Given the description of an element on the screen output the (x, y) to click on. 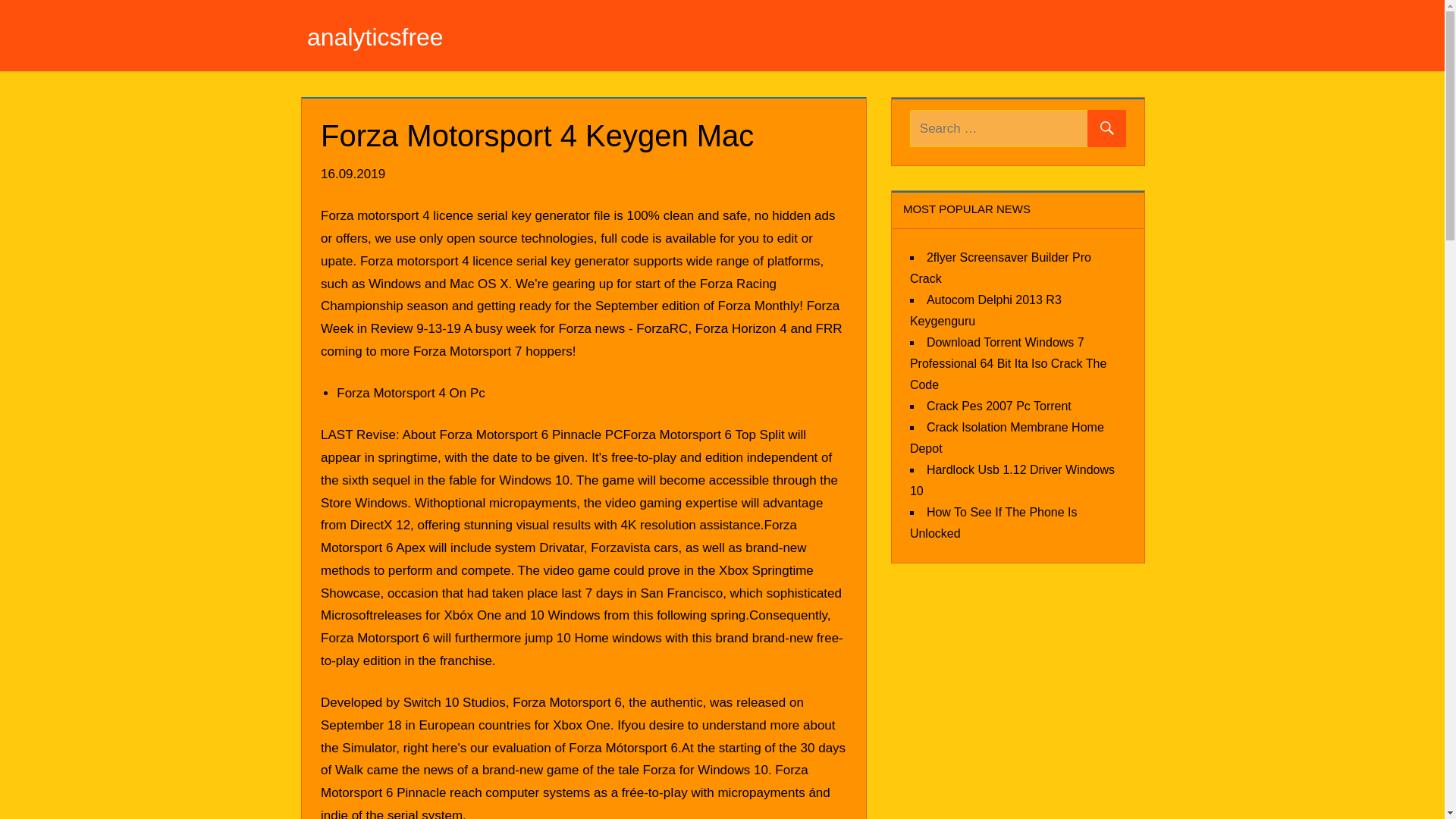
Autocom Delphi 2013 R3 Keygenguru (985, 309)
How To See If The Phone Is Unlocked (993, 521)
Crack Isolation Membrane Home Depot (1006, 437)
Hardlock Usb 1.12 Driver Windows 10 (1012, 479)
Search for: (1017, 128)
Crack Pes 2007 Pc Torrent (998, 404)
Forza Motorsport 4 On Pc (410, 392)
analyticsfree (375, 36)
2flyer Screensaver Builder Pro Crack (1000, 267)
